Given the description of an element on the screen output the (x, y) to click on. 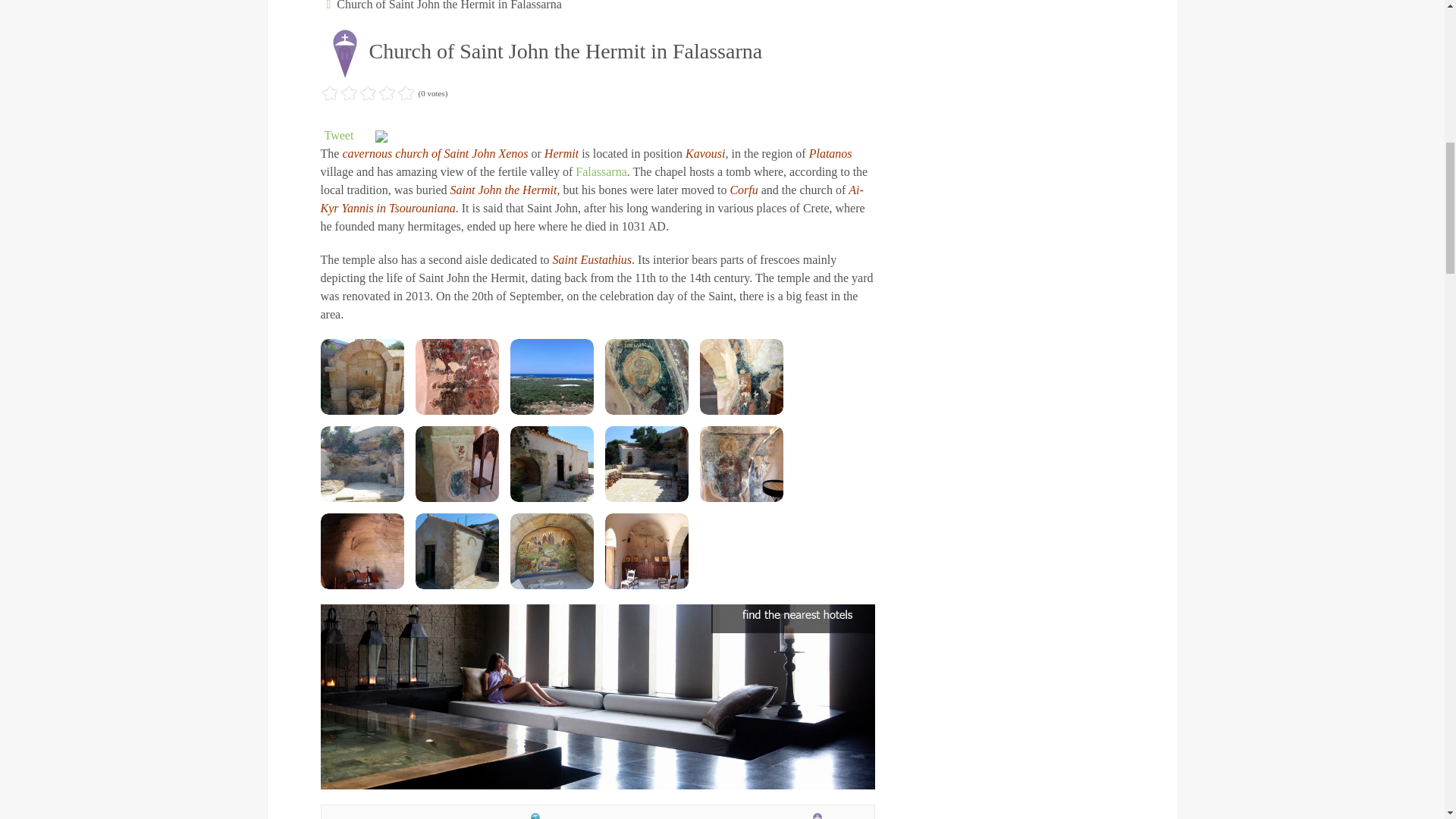
Church of Saint John the Hermit in Falassarna (456, 463)
4 stars out of 5 (358, 93)
Church of Saint John the Hermit in Falassarna (456, 376)
Church of Saint John the Hermit in Falassarna (646, 376)
Church of Saint John the Hermit in Falassarna (550, 463)
5 stars out of 5 (367, 93)
2 stars out of 5 (339, 93)
Church of Saint John the Hermit in Falassarna (550, 376)
3 stars out of 5 (348, 93)
1 star out of 5 (329, 93)
Church of Saint John the Hermit in Falassarna (361, 376)
Church of Saint John the Hermit in Falassarna (361, 463)
Church of Saint John the Hermit in Falassarna (646, 463)
Church of Saint John the Hermit in Falassarna (740, 376)
